Given the description of an element on the screen output the (x, y) to click on. 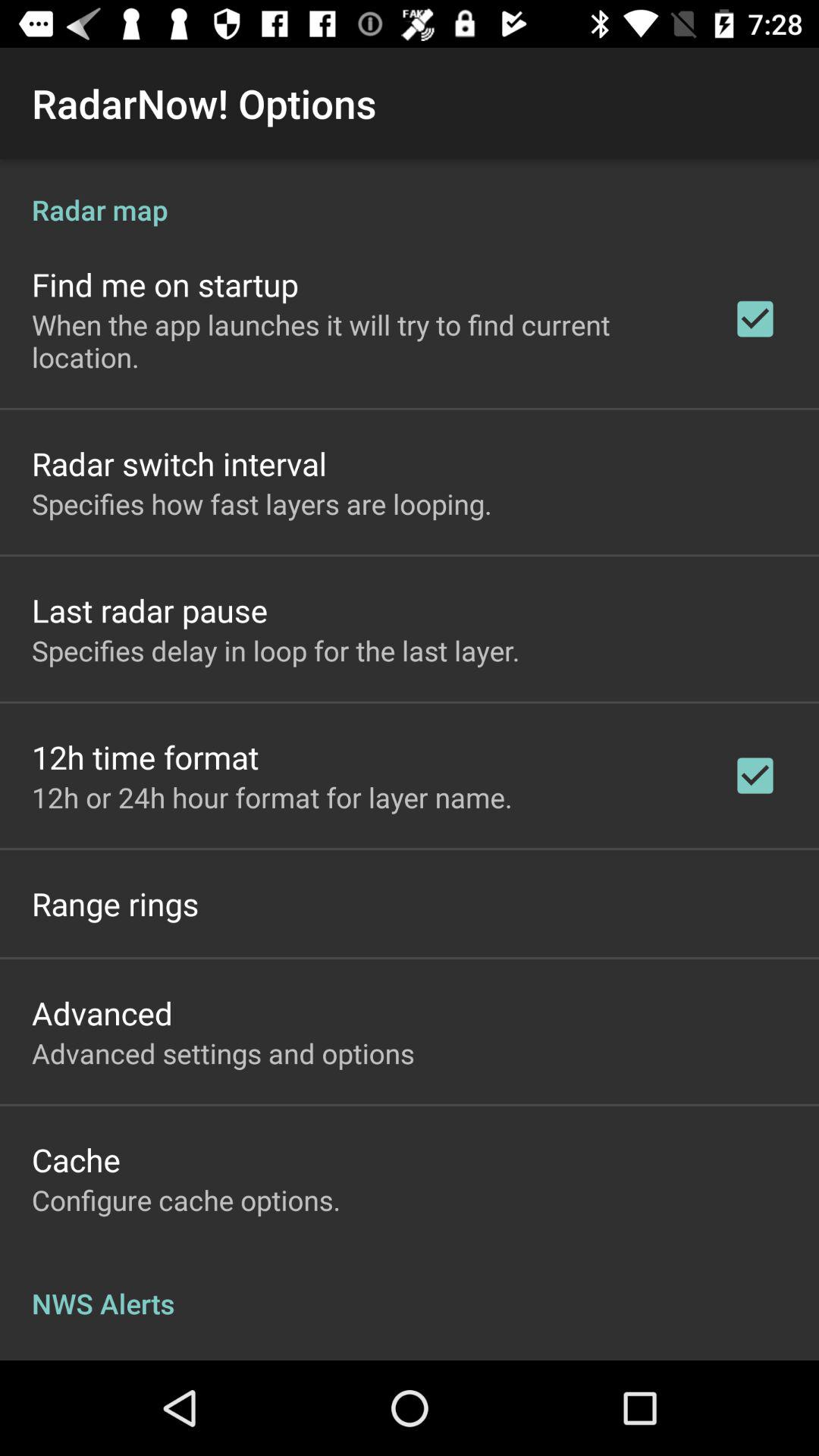
turn off app above 12h time format item (275, 650)
